Given the description of an element on the screen output the (x, y) to click on. 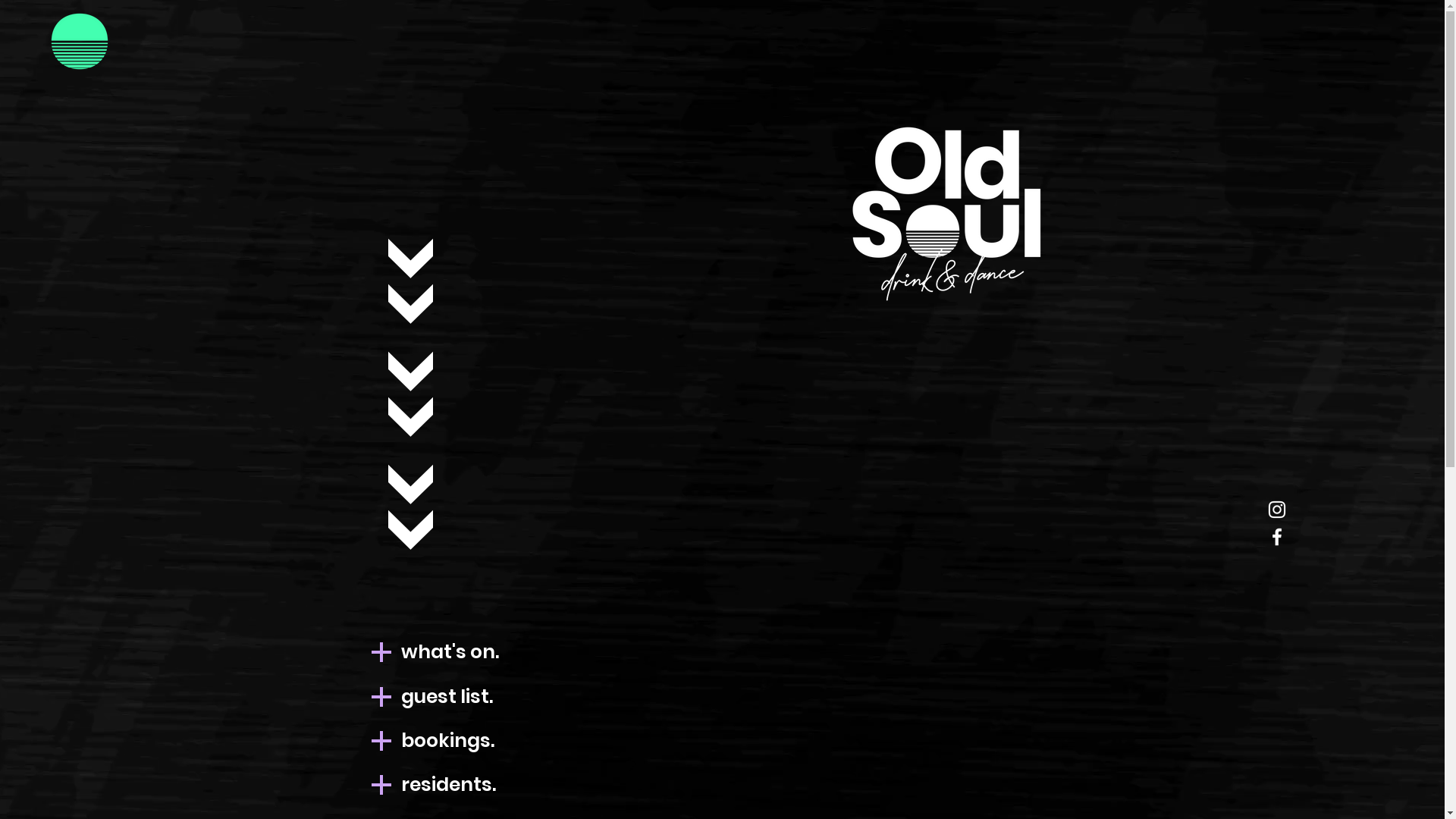
residents. Element type: text (447, 783)
what's on. Element type: text (449, 651)
bookings. Element type: text (446, 739)
guest list. Element type: text (446, 695)
